Given the description of an element on the screen output the (x, y) to click on. 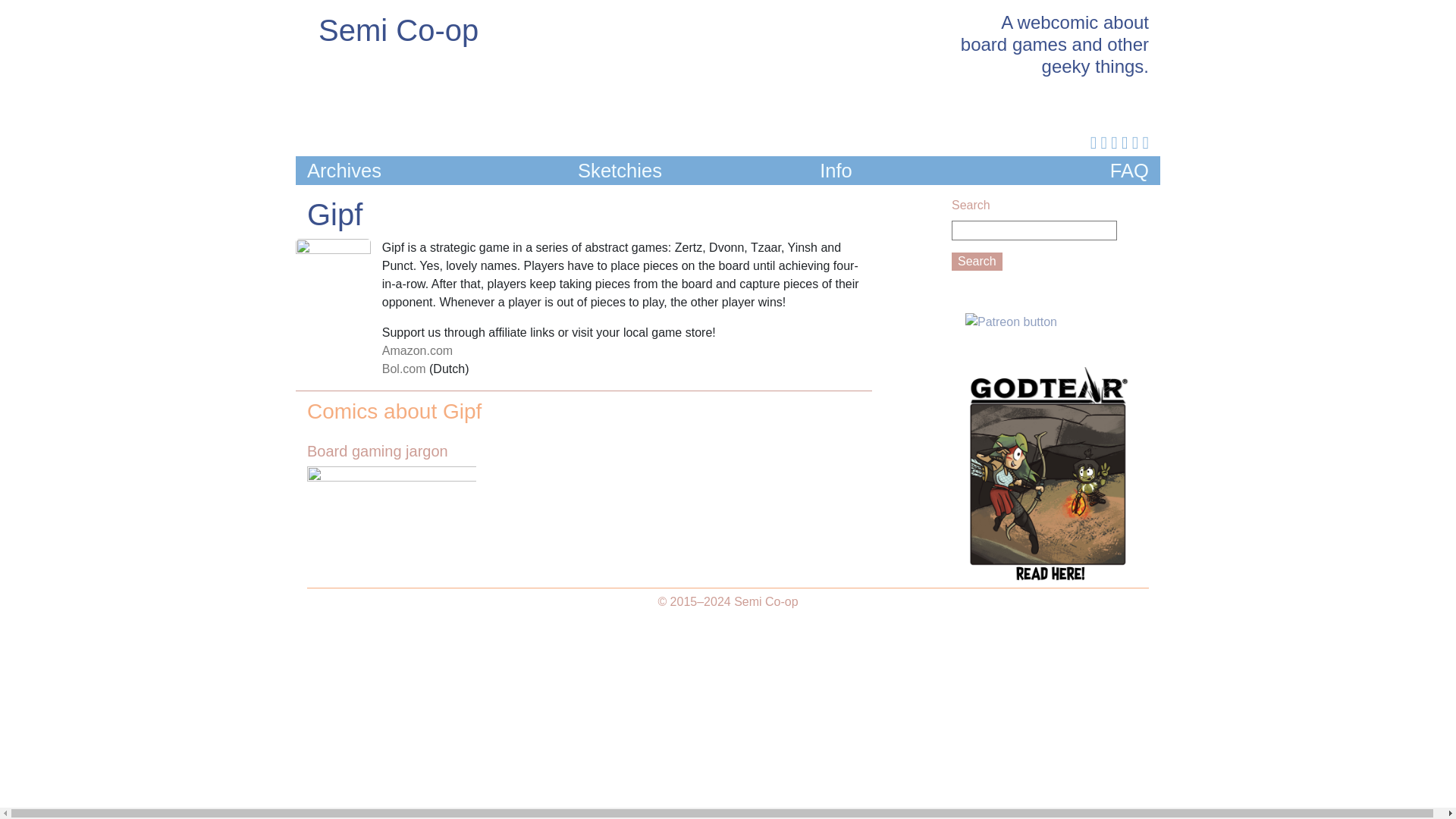
FAQ (1128, 169)
Amazon.com (416, 350)
Bol.com (403, 368)
Search (977, 261)
Archives (344, 169)
Info (835, 169)
Semi Co-op (398, 29)
Board gaming jargon (391, 475)
Sketchies (620, 169)
